Given the description of an element on the screen output the (x, y) to click on. 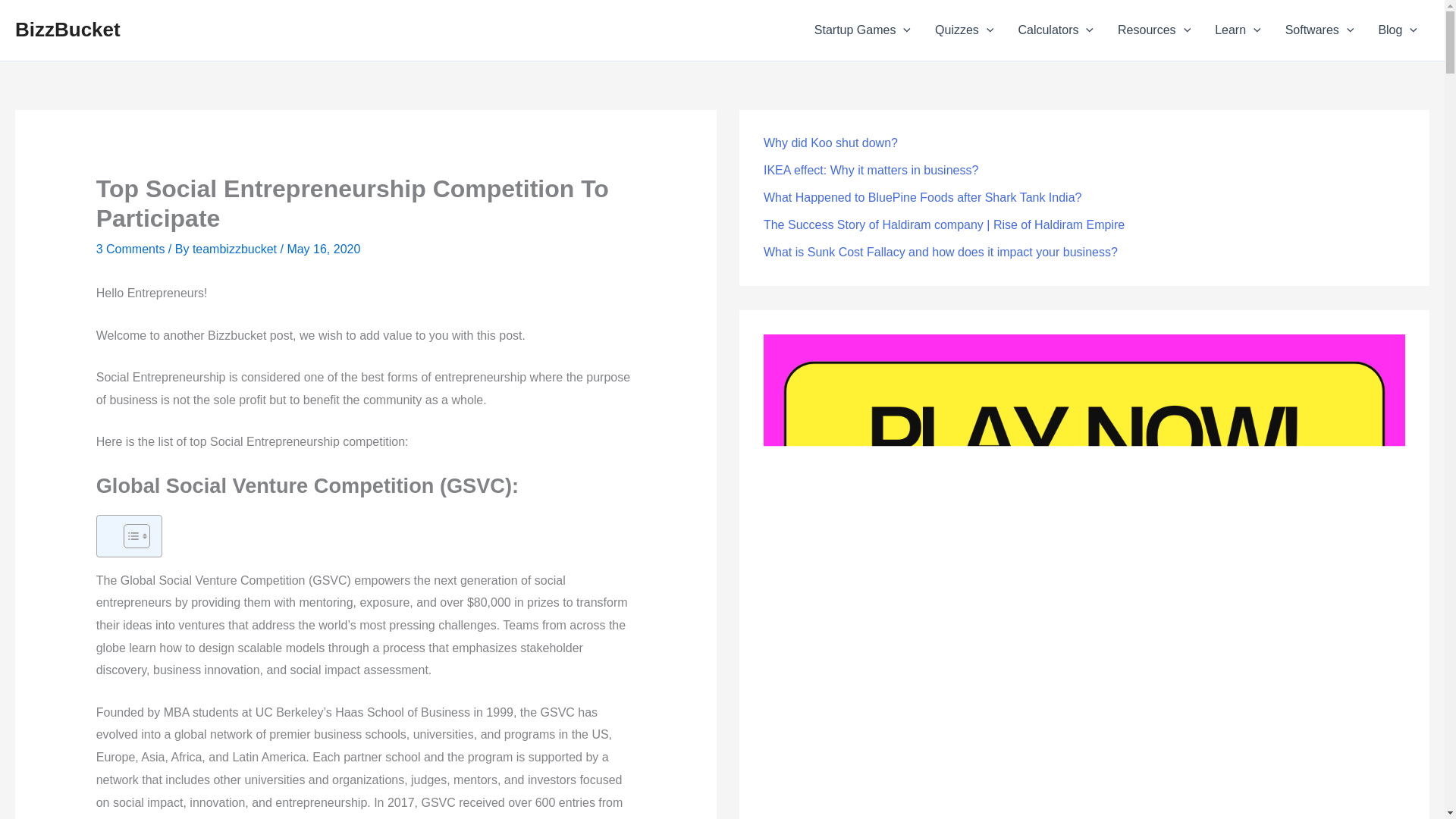
BizzBucket (67, 29)
Quizzes (964, 30)
View all posts by teambizzbucket (234, 248)
Calculators (1055, 30)
Startup Games (862, 30)
Learn (1237, 30)
Resources (1153, 30)
